Given the description of an element on the screen output the (x, y) to click on. 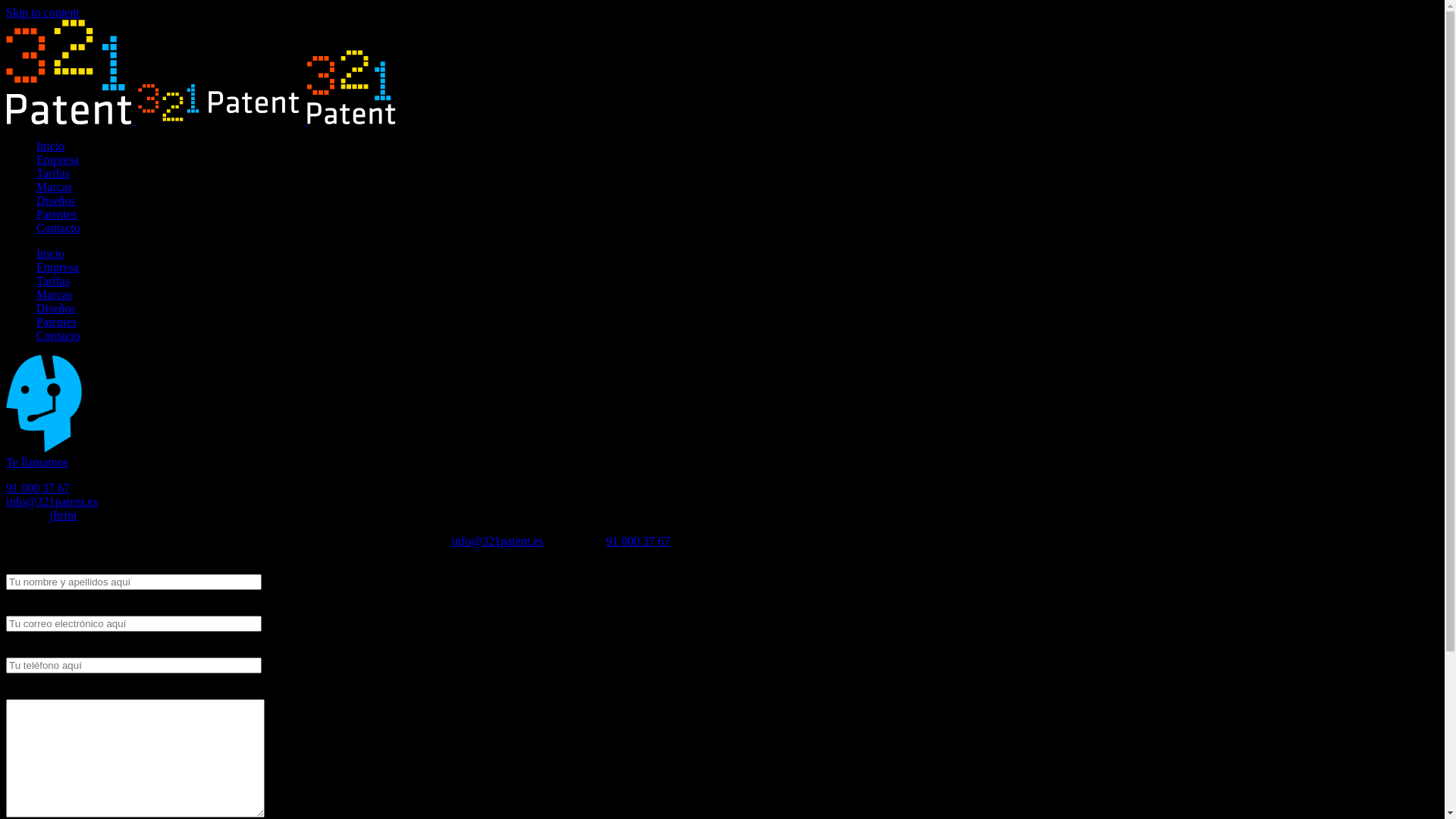
Tarifas Element type: text (52, 280)
Patentes Element type: text (56, 321)
info@321patent.es Element type: text (51, 501)
Patentes Element type: text (56, 213)
Marcas Element type: text (54, 294)
Marcas Element type: text (54, 186)
91 000 37 67 Element type: text (638, 540)
info@321patent.es Element type: text (497, 540)
Tarifas Element type: text (52, 172)
Inicio Element type: text (50, 145)
Skip to content Element type: text (42, 12)
Empresa Element type: text (57, 159)
Contacto Element type: text (58, 227)
Te llamamos Element type: text (43, 455)
91 000 37 67 Element type: text (37, 487)
Inicio Element type: text (50, 253)
Empresa Element type: text (57, 266)
Contacto Element type: text (58, 335)
jltrini Element type: text (63, 514)
